Given the description of an element on the screen output the (x, y) to click on. 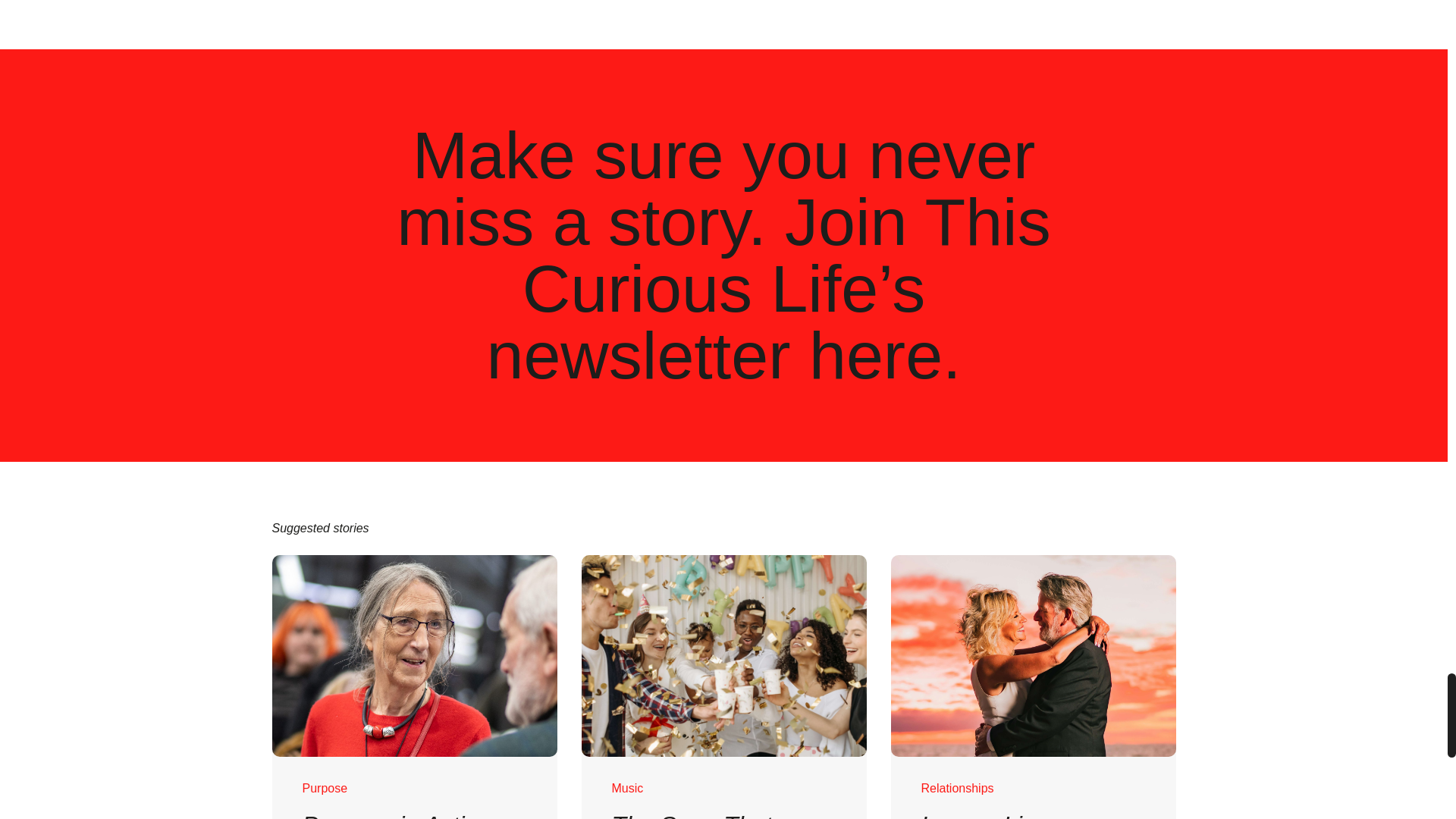
The Song That Shaped Me. The 14th Birthday Myth Unveiled (712, 815)
Make sure you never miss a story. (715, 188)
Purpose in Action: Amplifying Voices for Change (399, 815)
